Given the description of an element on the screen output the (x, y) to click on. 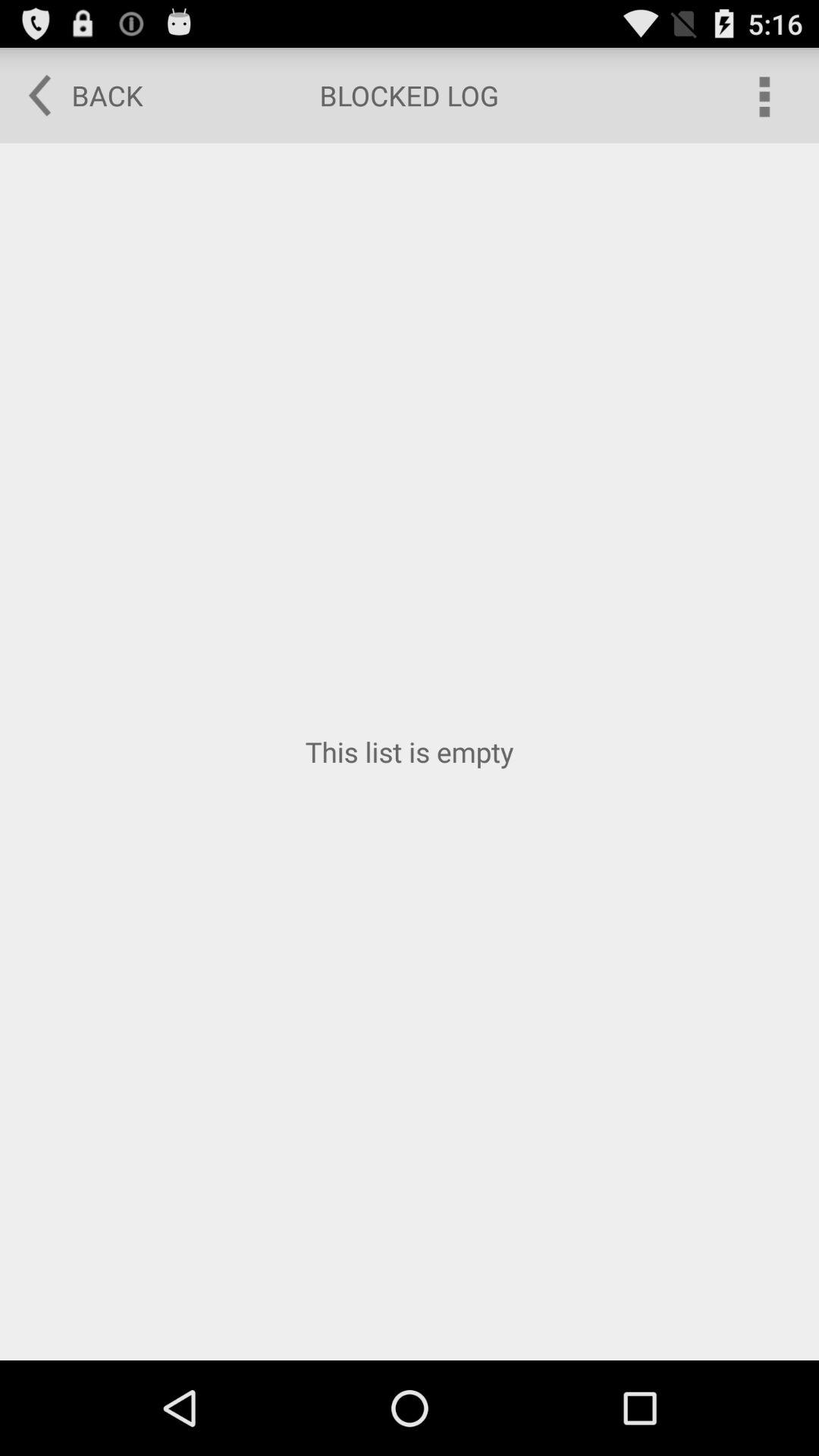
click the item at the top left corner (75, 95)
